Given the description of an element on the screen output the (x, y) to click on. 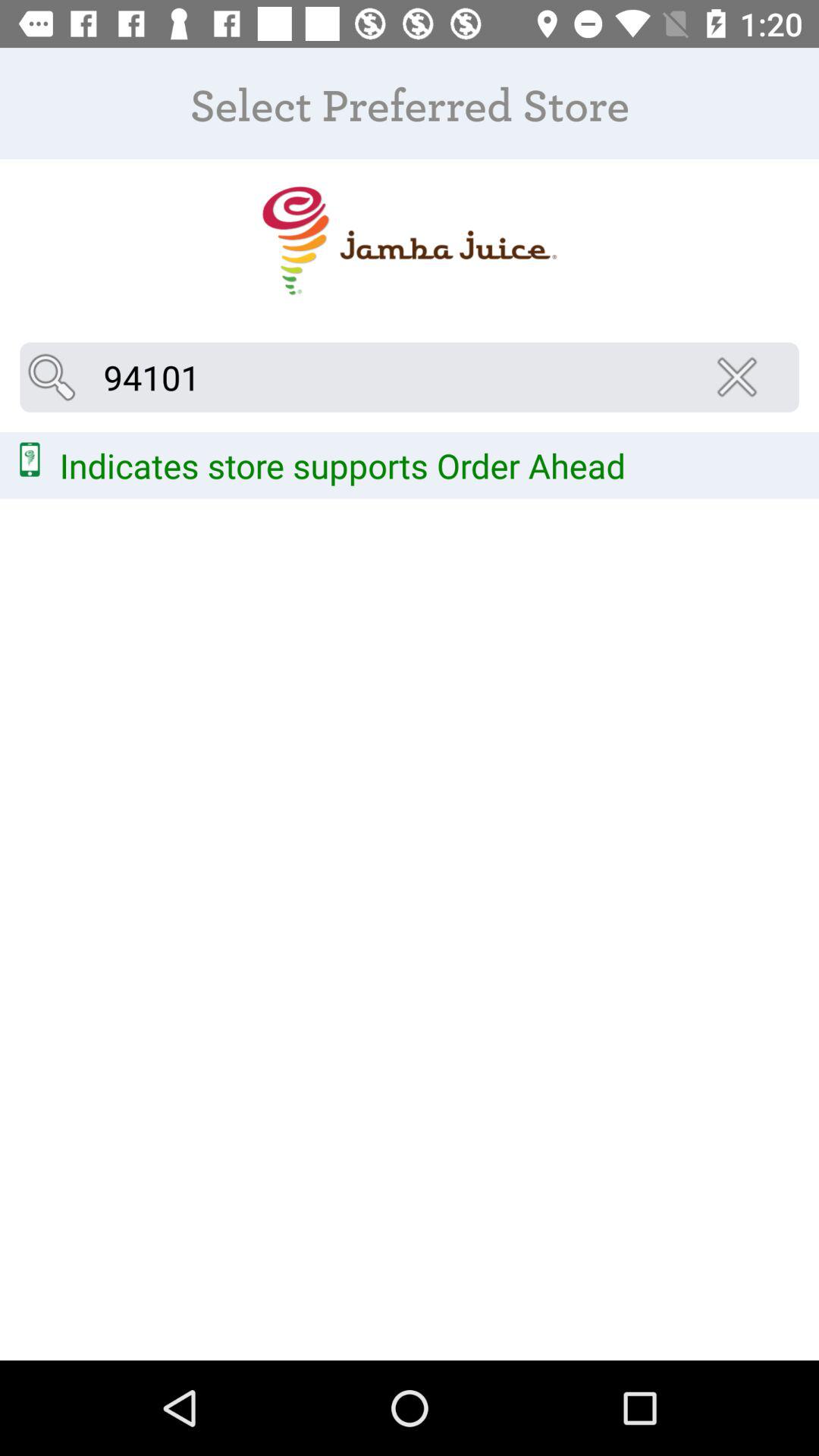
tap item above 94101 icon (408, 240)
